Given the description of an element on the screen output the (x, y) to click on. 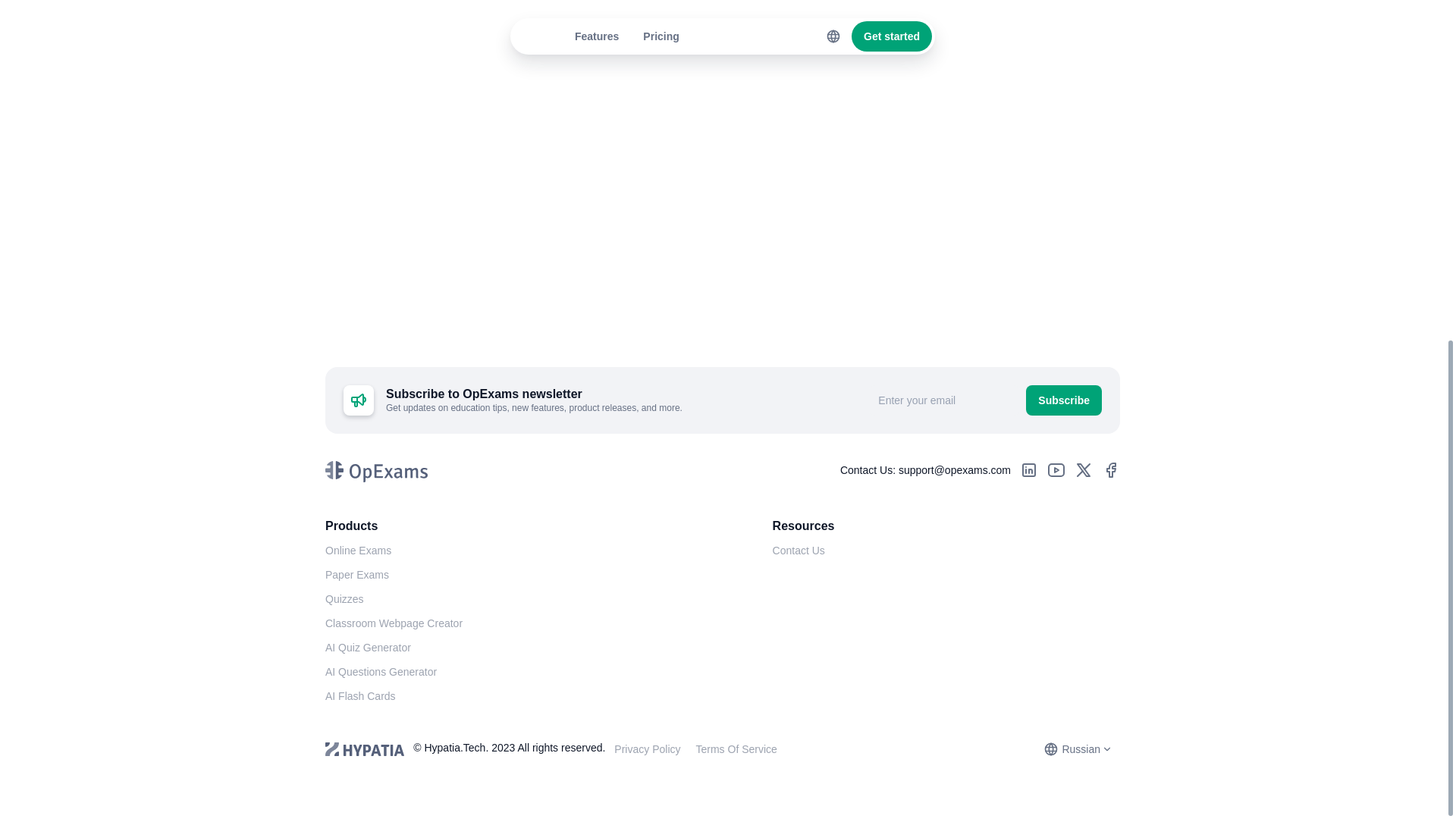
AI Questions Generator (380, 671)
Subscribe (1064, 399)
Quizzes (344, 598)
Paper Exams (356, 574)
Russian (1077, 748)
Privacy Policy (646, 749)
Contact Us (799, 549)
AI Flash Cards (360, 695)
AI Quiz Generator (367, 647)
Online Exams (357, 549)
